Given the description of an element on the screen output the (x, y) to click on. 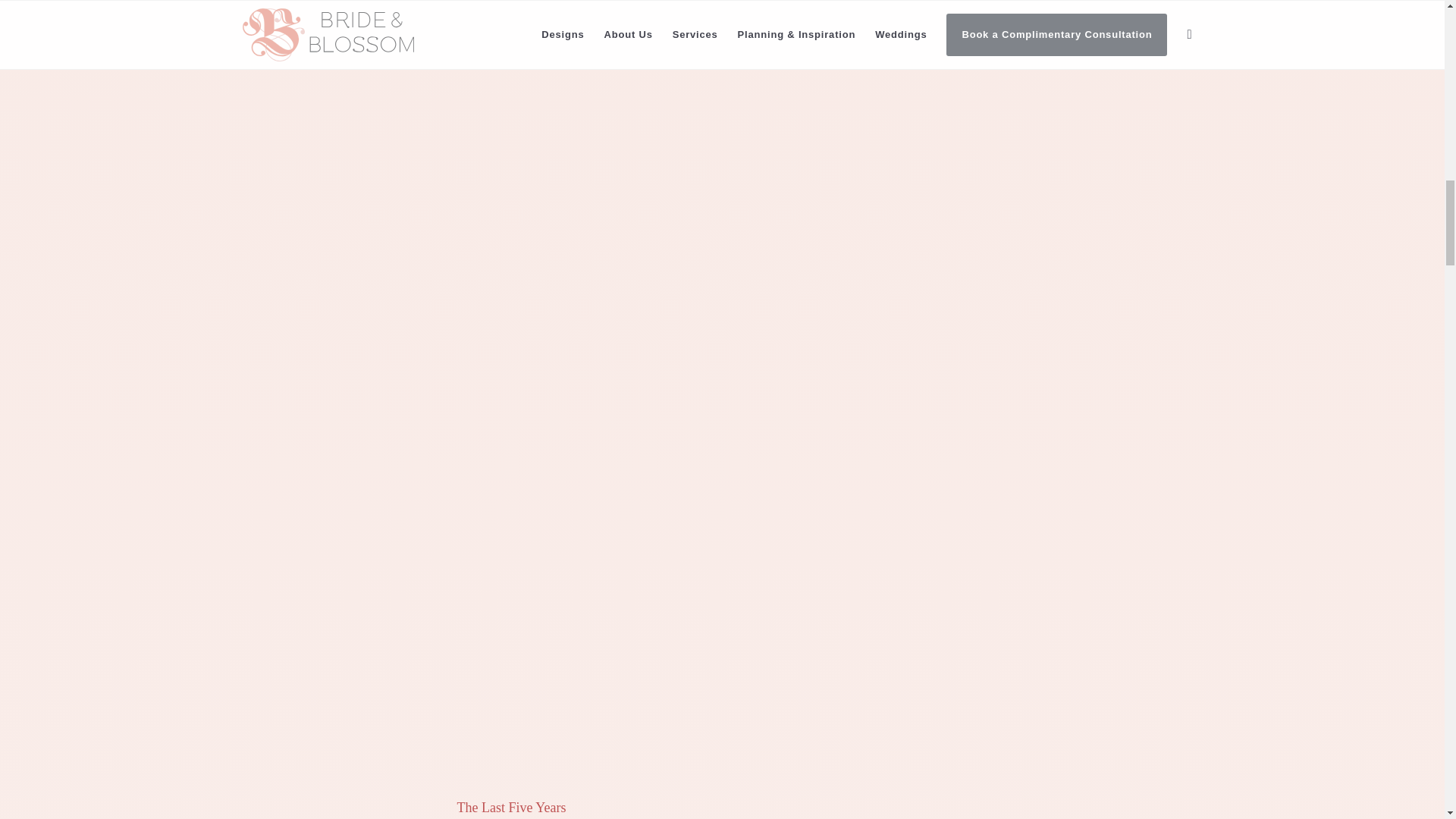
The Last Five Years (511, 807)
